Given the description of an element on the screen output the (x, y) to click on. 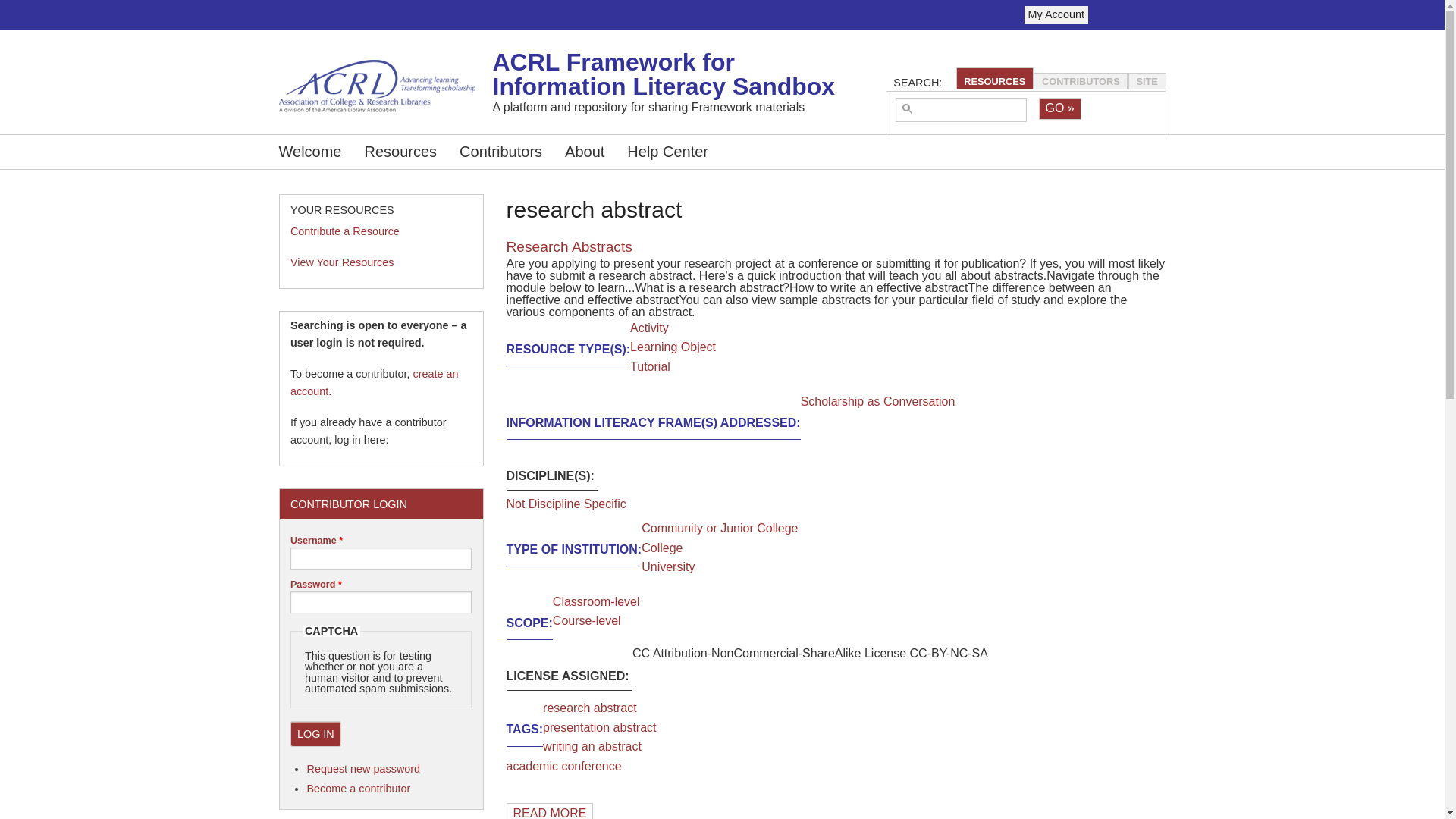
Research Abstracts (550, 811)
Tutorial (649, 366)
About (584, 151)
Classroom-level (596, 601)
University (668, 566)
Not Discipline Specific (566, 503)
ACRL Framework for Information Literacy Sandbox (571, 73)
College (662, 547)
SITE (1146, 81)
Request new password via e-mail. (362, 768)
presentation abstract (599, 727)
ACRL Framework for Information Literacy Sandbox (664, 73)
RESOURCES (994, 81)
Scholarship as Conversation (877, 400)
